Given the description of an element on the screen output the (x, y) to click on. 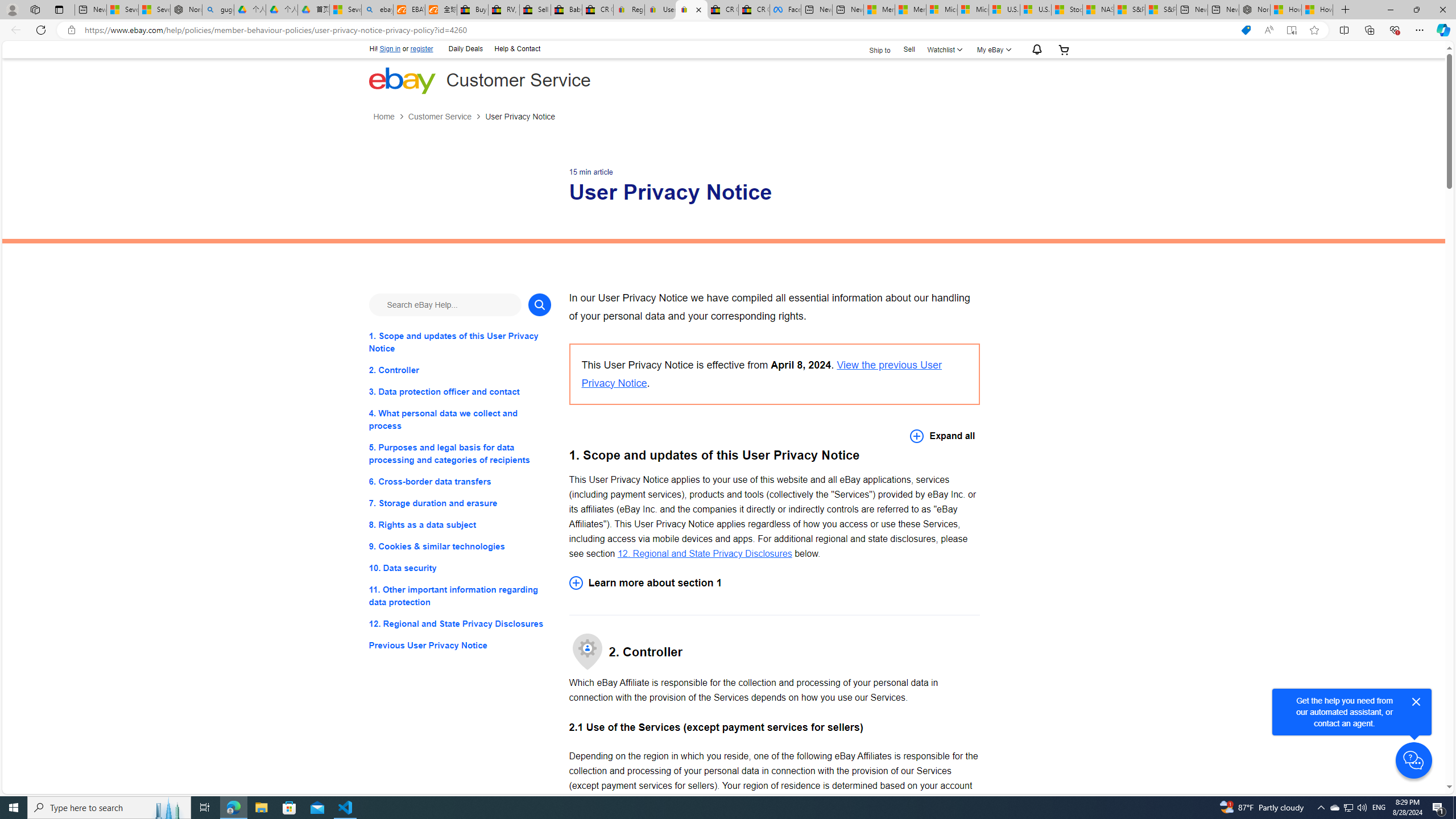
Search eBay Help... (444, 304)
Buy Auto Parts & Accessories | eBay (472, 9)
11. Other important information regarding data protection (459, 596)
Expand all (942, 435)
Sign in (390, 49)
How to Use a Monitor With Your Closed Laptop (1317, 9)
Customer Service (439, 117)
2. Controller (459, 369)
Ship to (872, 50)
Sell worldwide with eBay (535, 9)
Enter Immersive Reader (F9) (1291, 29)
register (421, 49)
